Given the description of an element on the screen output the (x, y) to click on. 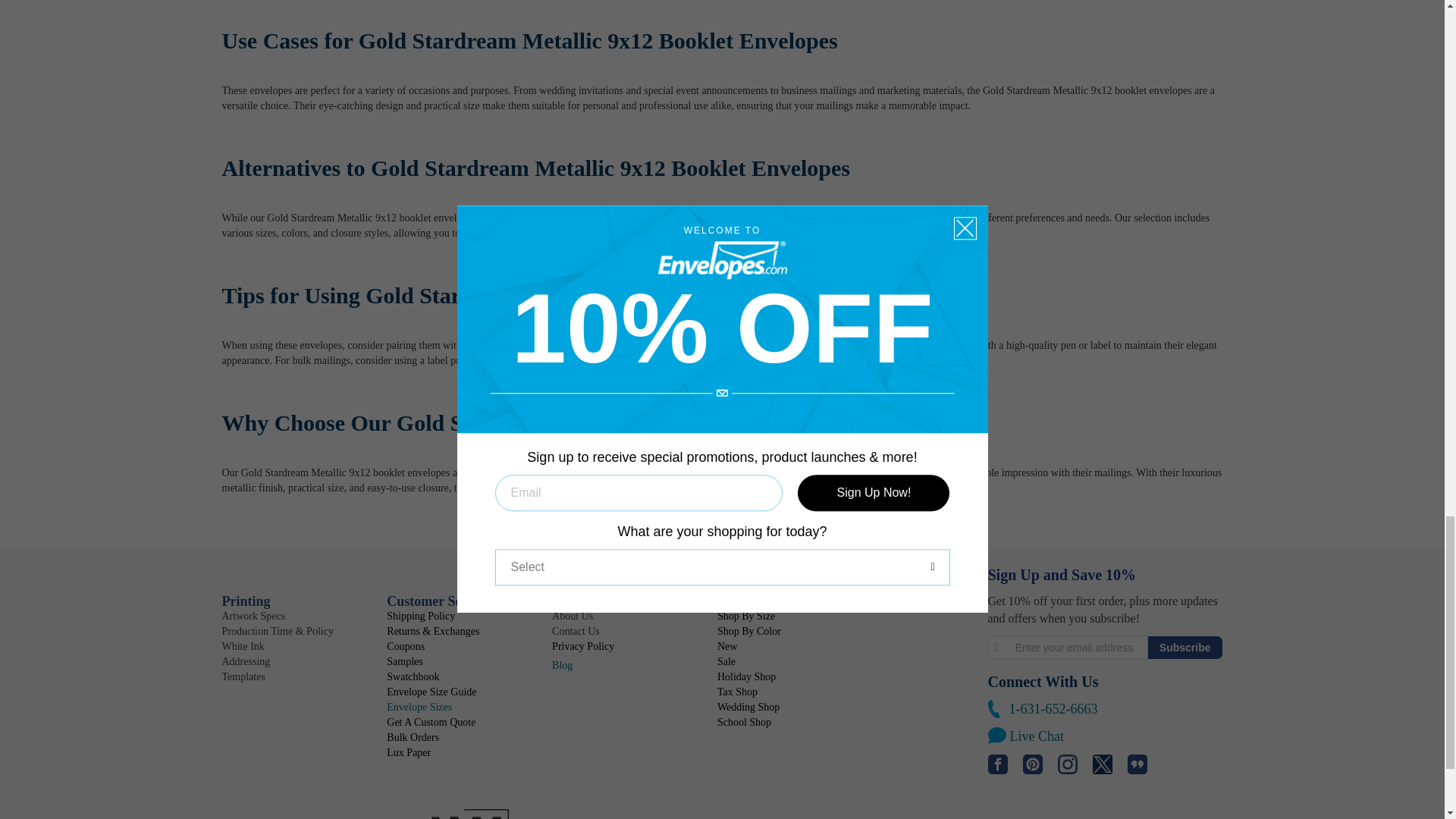
Shipping Policy (420, 615)
Samples (404, 661)
ARtwork Specs (253, 615)
Addressing (245, 661)
White Ink (242, 645)
Production Time (277, 631)
